Given the description of an element on the screen output the (x, y) to click on. 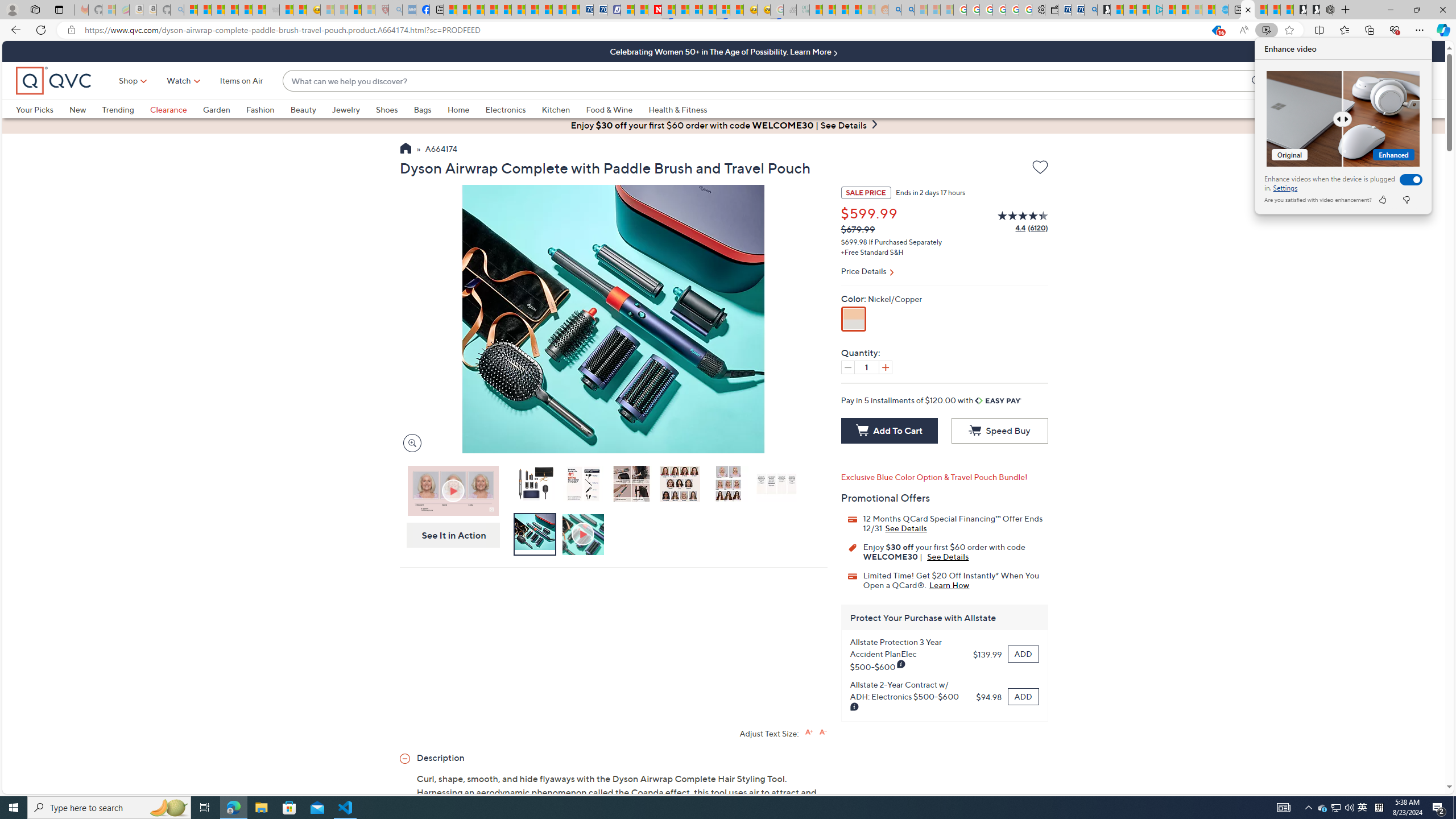
QVC home (53, 80)
Garden (216, 109)
12 Months QCard Special Financing Offer Ends 12/31 (906, 527)
Increase font size (808, 731)
See Details (948, 556)
Bags (421, 109)
Start (13, 807)
File Explorer (261, 807)
